Given the description of an element on the screen output the (x, y) to click on. 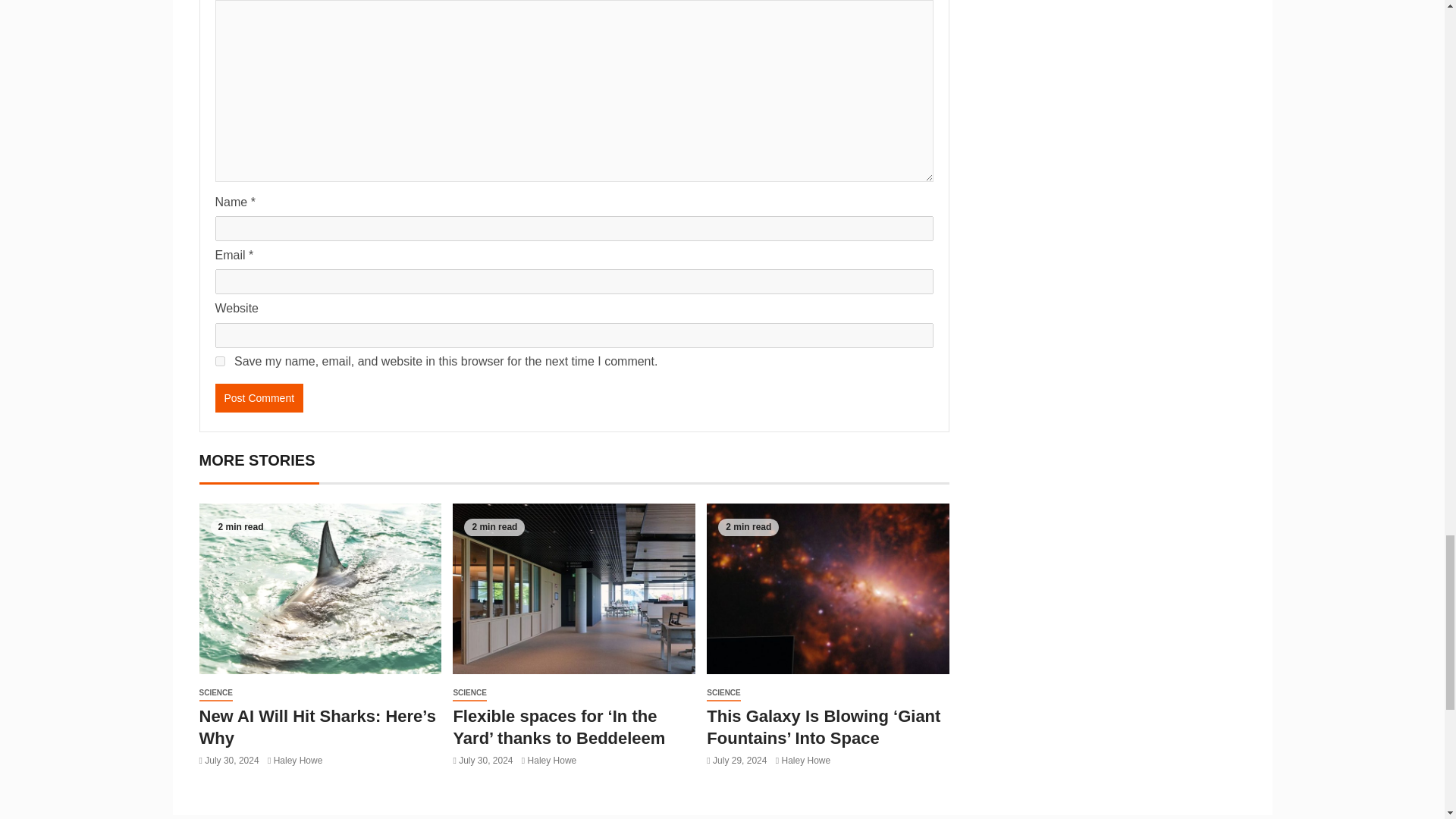
Post Comment (259, 398)
yes (220, 361)
Post Comment (259, 398)
